Given the description of an element on the screen output the (x, y) to click on. 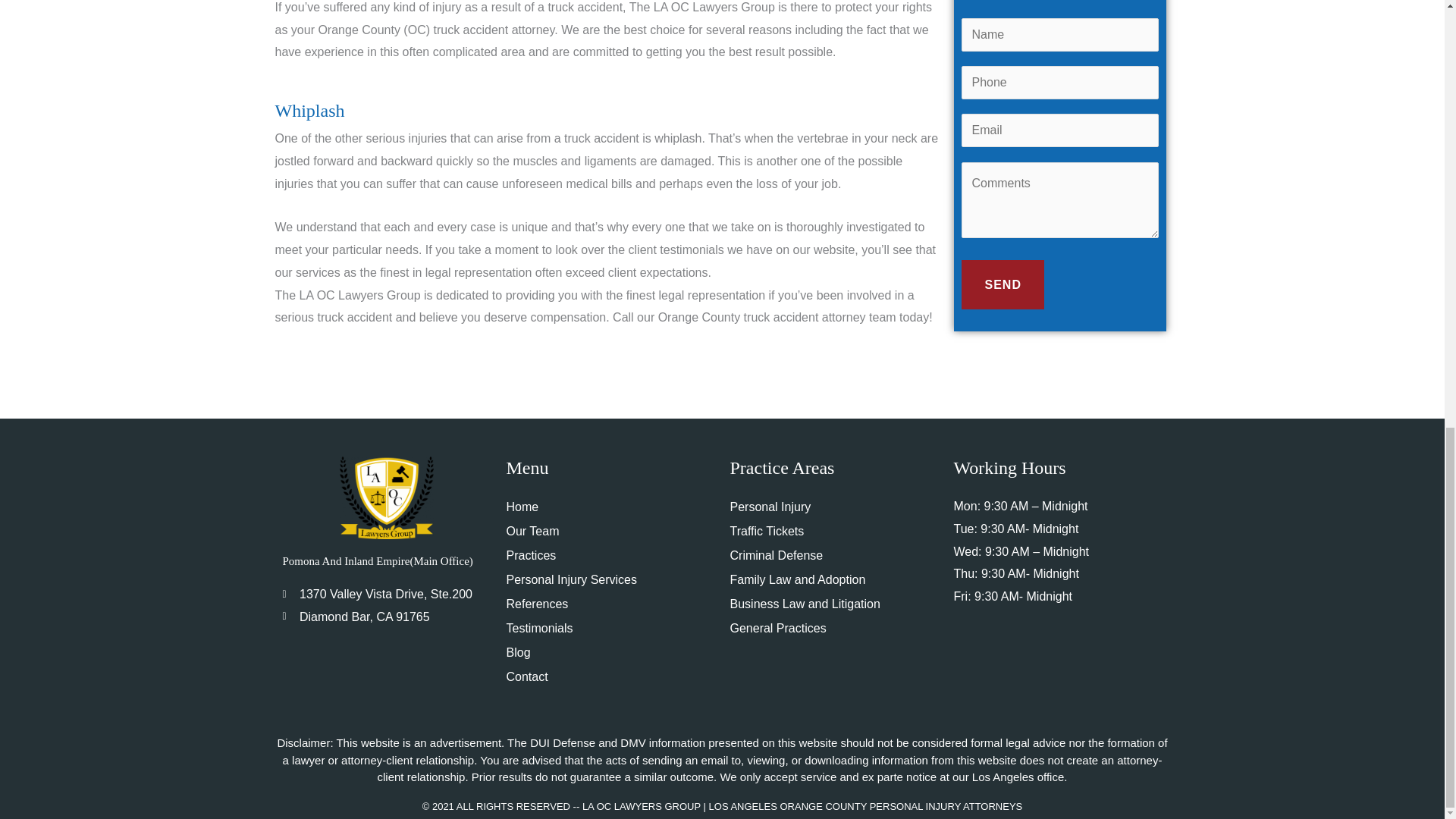
SEND (1001, 285)
